Given the description of an element on the screen output the (x, y) to click on. 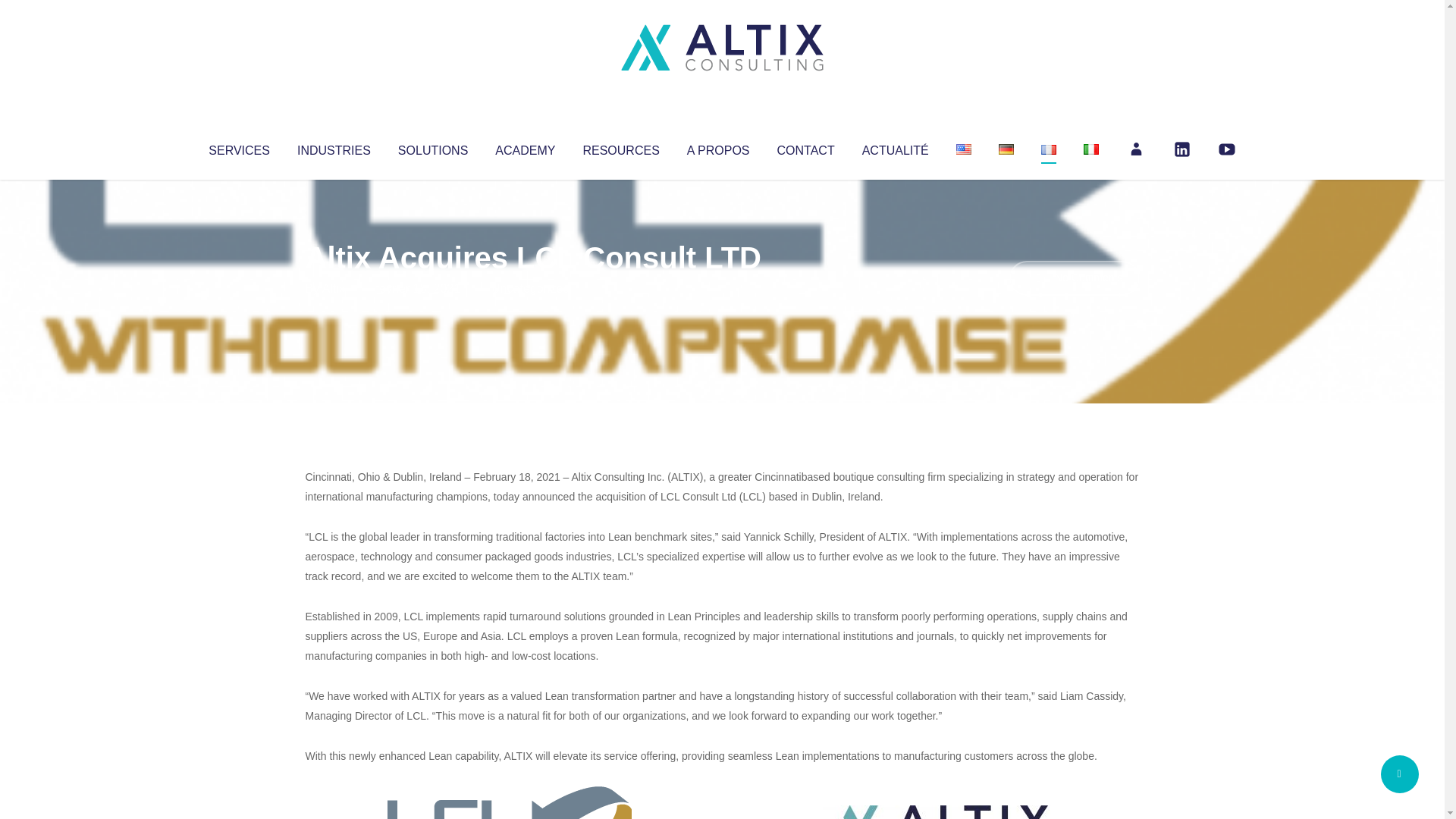
Altix (333, 287)
SOLUTIONS (432, 146)
INDUSTRIES (334, 146)
SERVICES (238, 146)
RESOURCES (620, 146)
No Comments (1073, 278)
ACADEMY (524, 146)
Articles par Altix (333, 287)
Uncategorized (530, 287)
A PROPOS (718, 146)
